Given the description of an element on the screen output the (x, y) to click on. 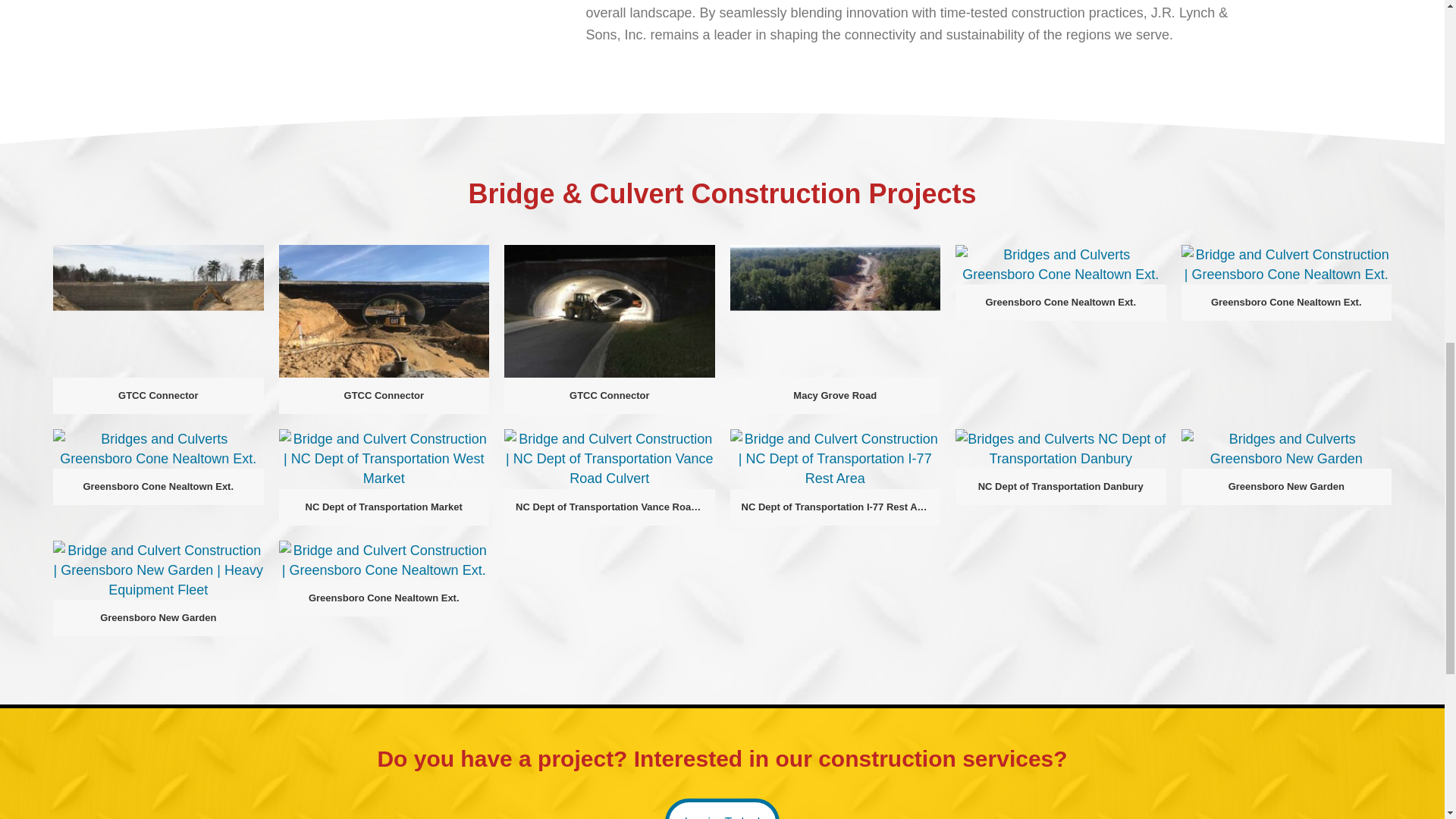
g-bridges-culverts-gtcc-connector-02 (384, 311)
g-bridges-culverts-greensboro-cone-nealtown-ext-03 (157, 448)
g-bridges-culverts-gtcc-connector-03 (608, 311)
g-bridges-culverts-nc-dept-transportation-i-77-resrt-area-01 (834, 458)
g-bridges-culverts-macy-grove-road-01 (834, 311)
g-bridges-culverts-greensboro-cone-nealtown-ext-01 (1060, 264)
g-bridges-culverts-nc-dept-transportation-west-market-01 (384, 458)
g-bridges-culverts-gtcc-connector-01 (157, 311)
g-bridges-culverts-greensboro-cone-nealtown-ext-02 (1285, 264)
